Given the description of an element on the screen output the (x, y) to click on. 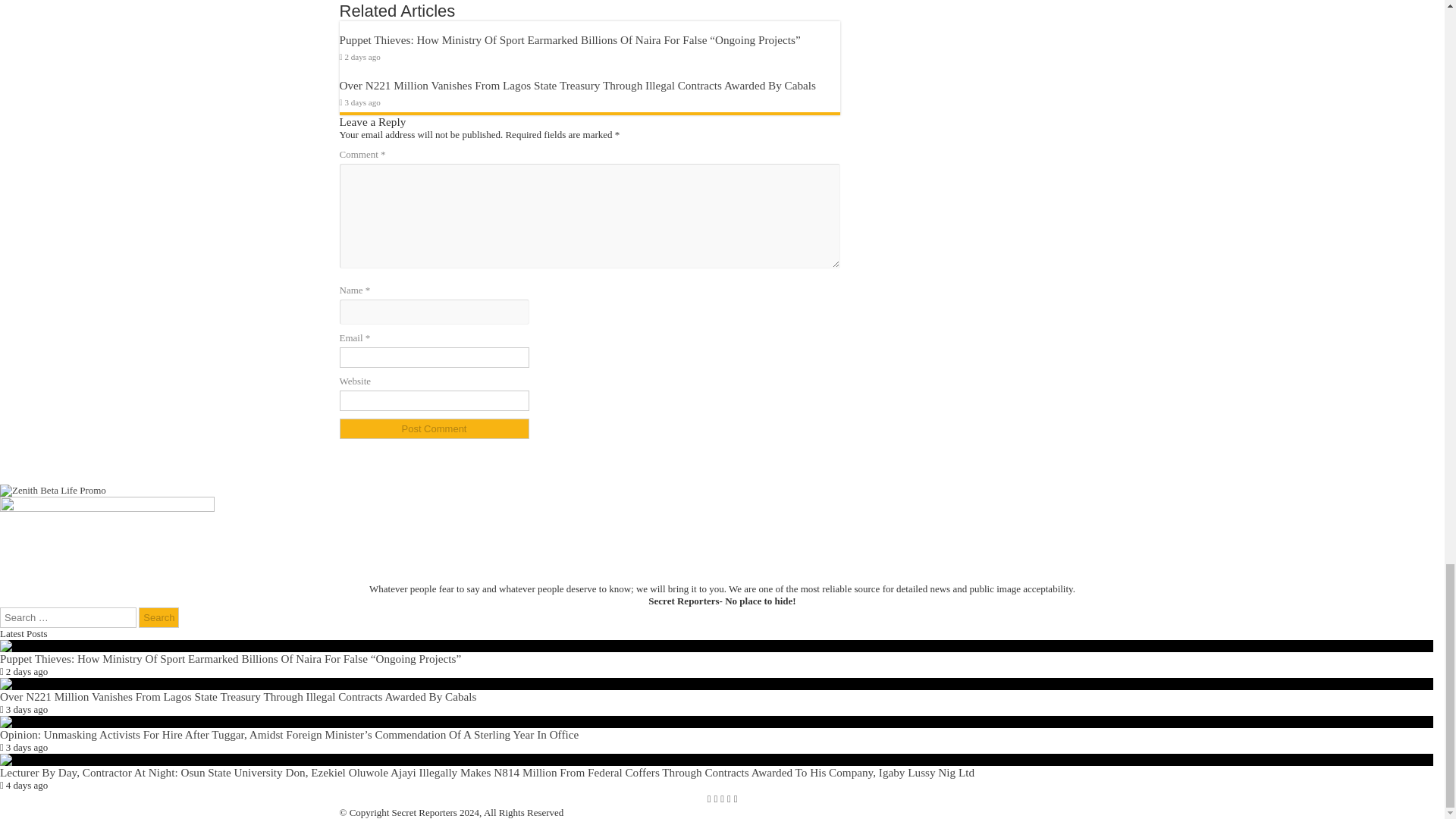
Search (158, 617)
Search (158, 617)
Post Comment (434, 428)
